Given the description of an element on the screen output the (x, y) to click on. 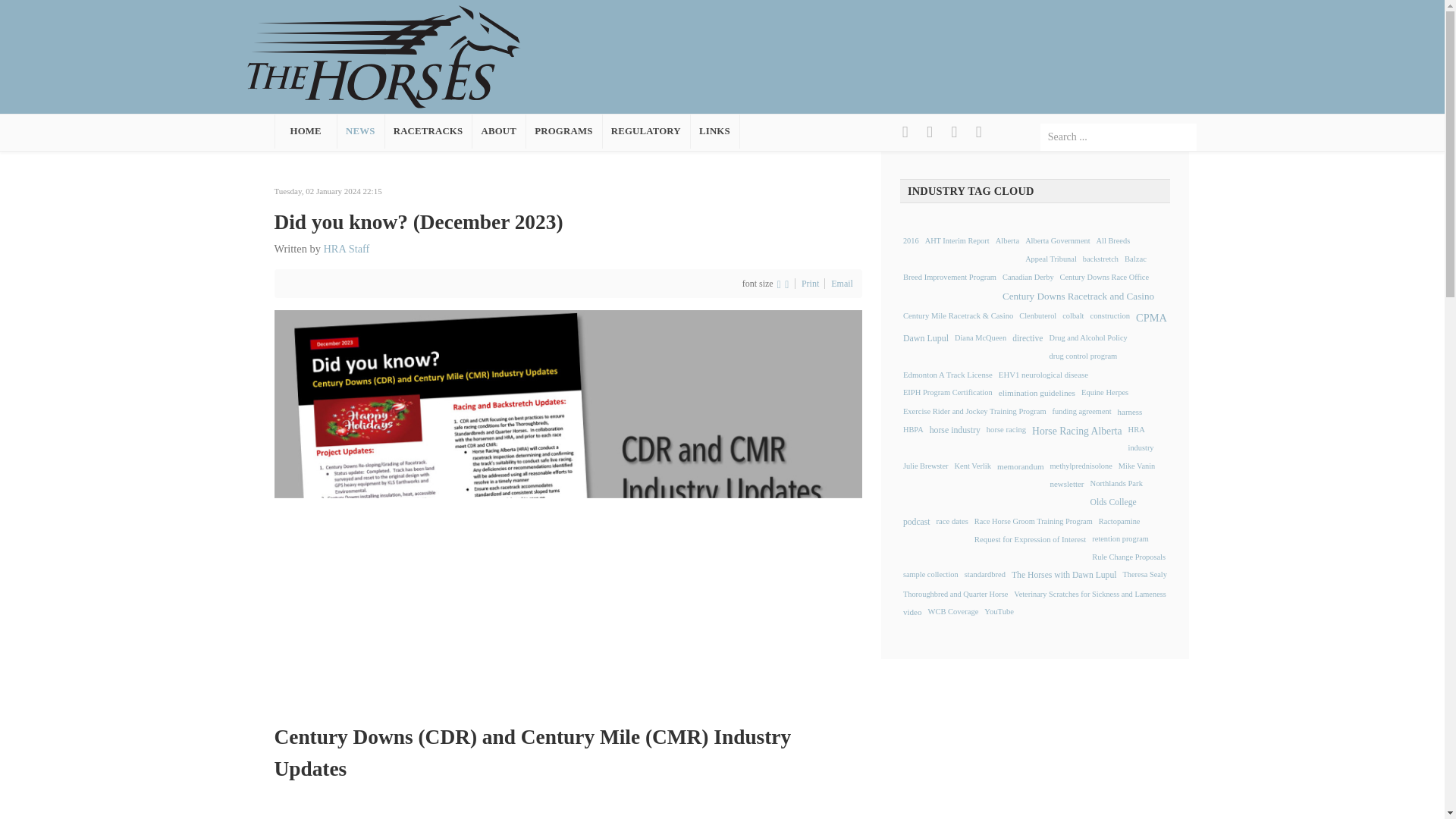
3 items tagged with Breed Improvement Program (948, 277)
2 items tagged with Appeal Tribunal (1051, 259)
2 items tagged with 2016 (910, 240)
Home (383, 55)
2 items tagged with backstretch (1100, 259)
2 items tagged with Canadian Derby (1027, 277)
HOME (306, 131)
3 items tagged with Alberta (1007, 240)
4 items tagged with Balzac (1135, 259)
2 items tagged with AHT Interim Report (956, 240)
2 items tagged with All Breeds (1113, 240)
2 items tagged with Century Downs Race Office (1104, 277)
Click to preview image (568, 503)
2 items tagged with Alberta Government (1057, 240)
